Given the description of an element on the screen output the (x, y) to click on. 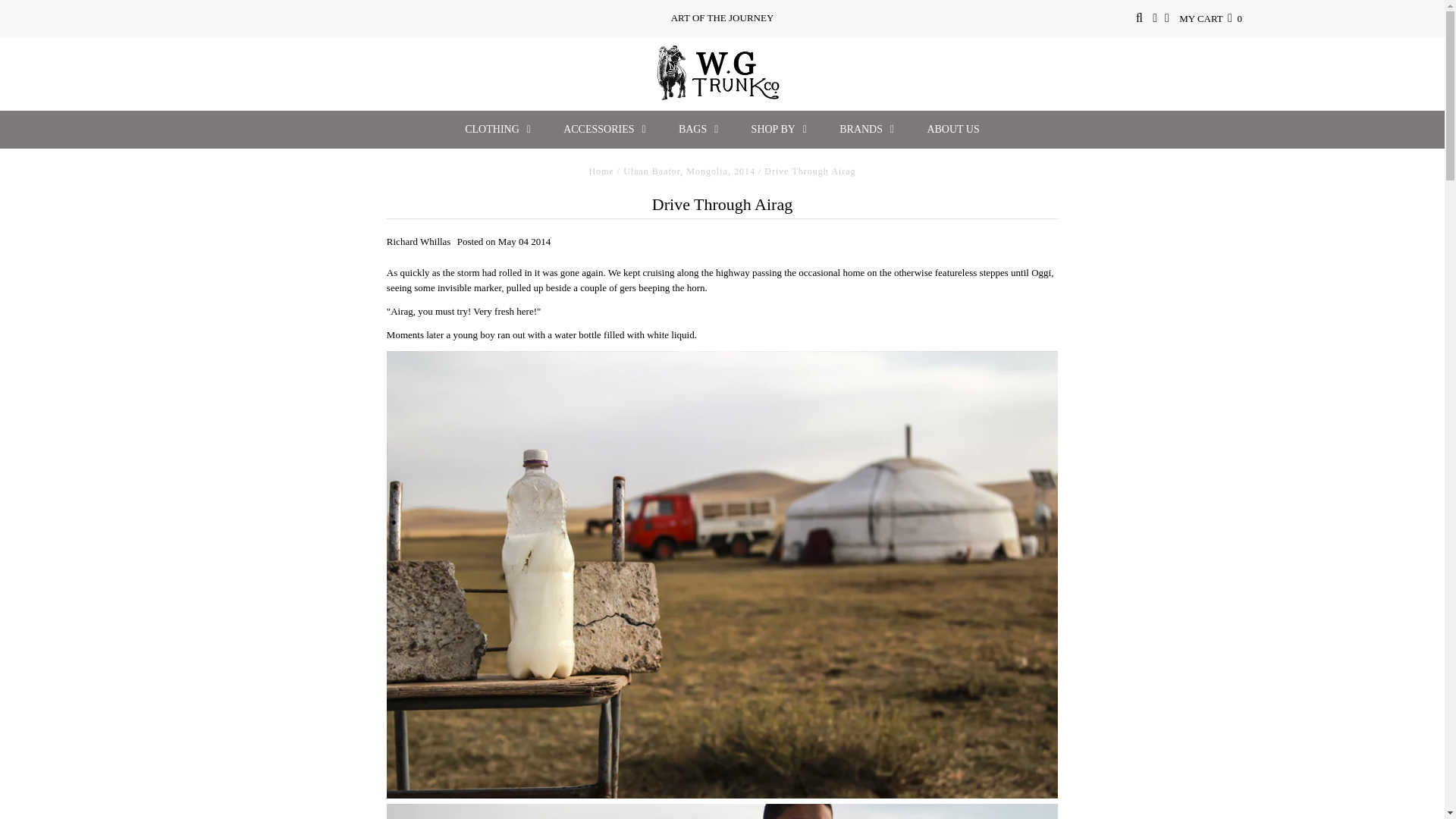
SHOP BY (779, 129)
MY CART    0 (1210, 18)
BRANDS (866, 129)
ACCESSORIES (604, 129)
Home (601, 171)
Home (601, 171)
CLOTHING (497, 129)
ABOUT US (952, 129)
BAGS (698, 129)
